Given the description of an element on the screen output the (x, y) to click on. 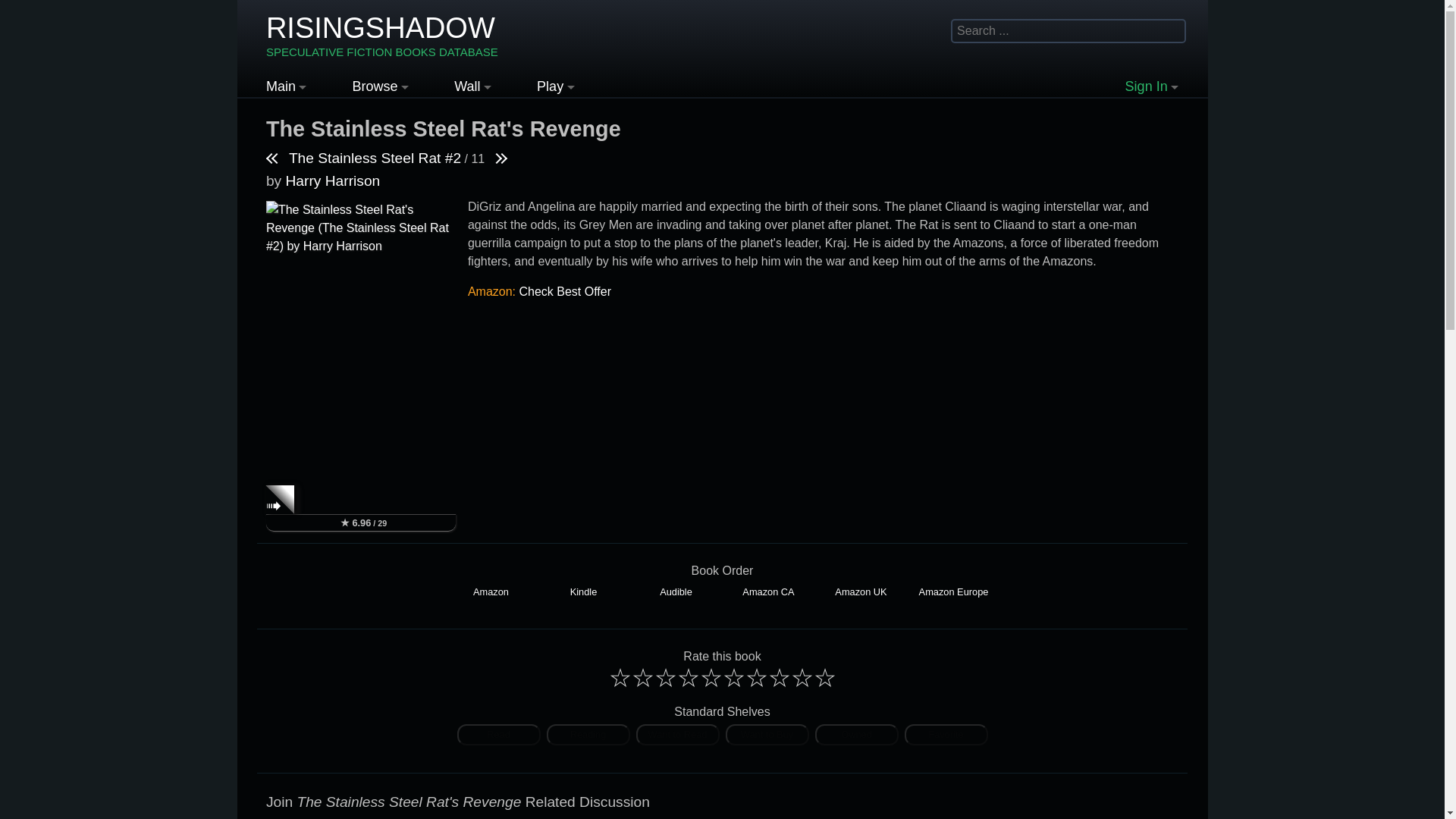
Audible (675, 590)
Owned (855, 734)
Check Best Offer (564, 291)
Want to Read (676, 734)
Reading (587, 734)
Amazon UK (860, 590)
Kindle (582, 590)
Owned (855, 734)
Read (498, 734)
Want to Read (676, 734)
